Given the description of an element on the screen output the (x, y) to click on. 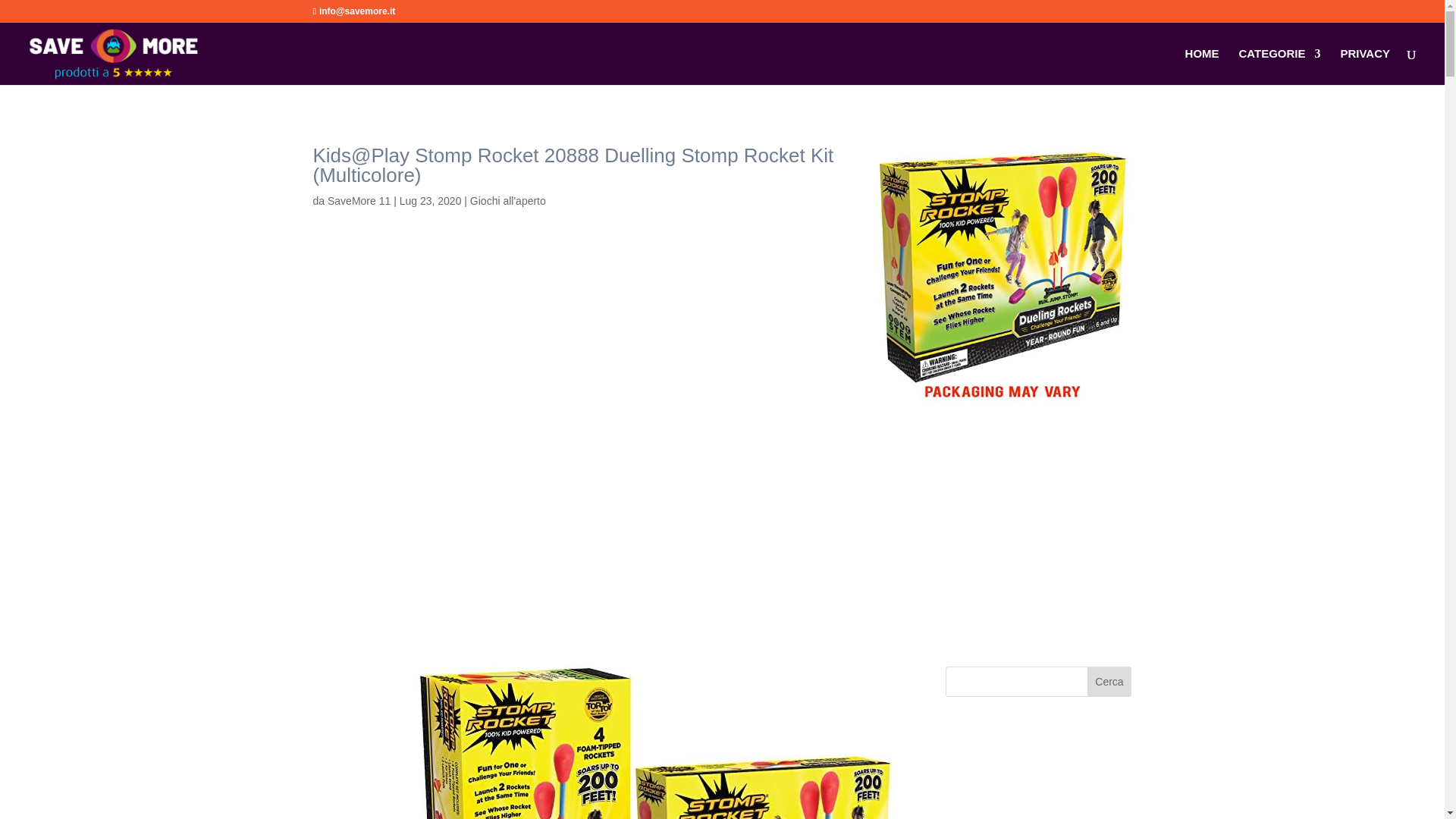
HOME (1202, 66)
Post di SaveMore 11 (358, 200)
CATEGORIE (1279, 66)
Cerca (1109, 681)
